Given the description of an element on the screen output the (x, y) to click on. 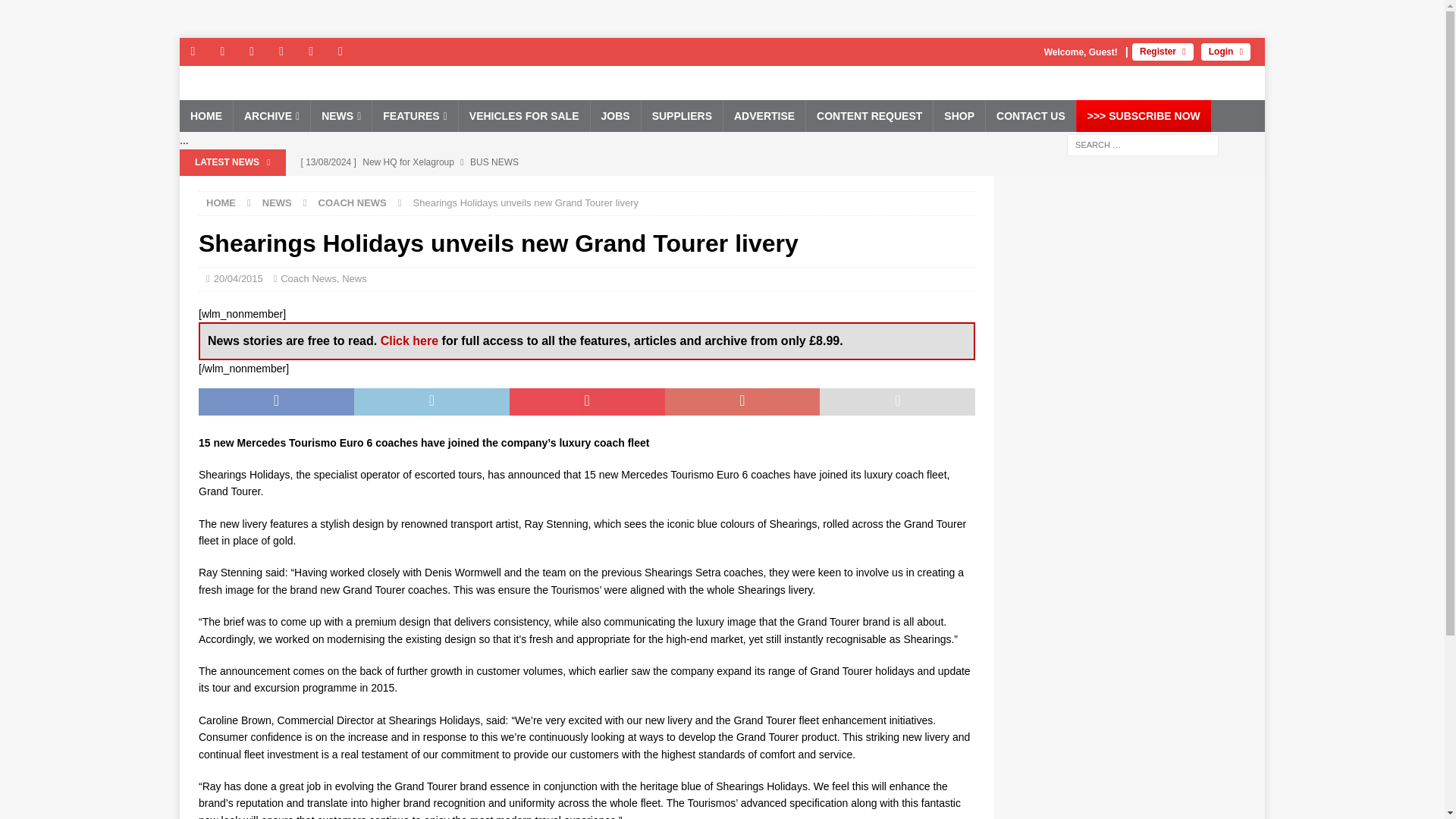
HOME (205, 115)
CONTACT US (1030, 115)
FEATURES (414, 115)
New HQ for Xelagroup (589, 162)
Register (1162, 51)
ARCHIVE (271, 115)
ADVERTISE (763, 115)
Login (1225, 51)
SHOP (959, 115)
JOBS (614, 115)
